Given the description of an element on the screen output the (x, y) to click on. 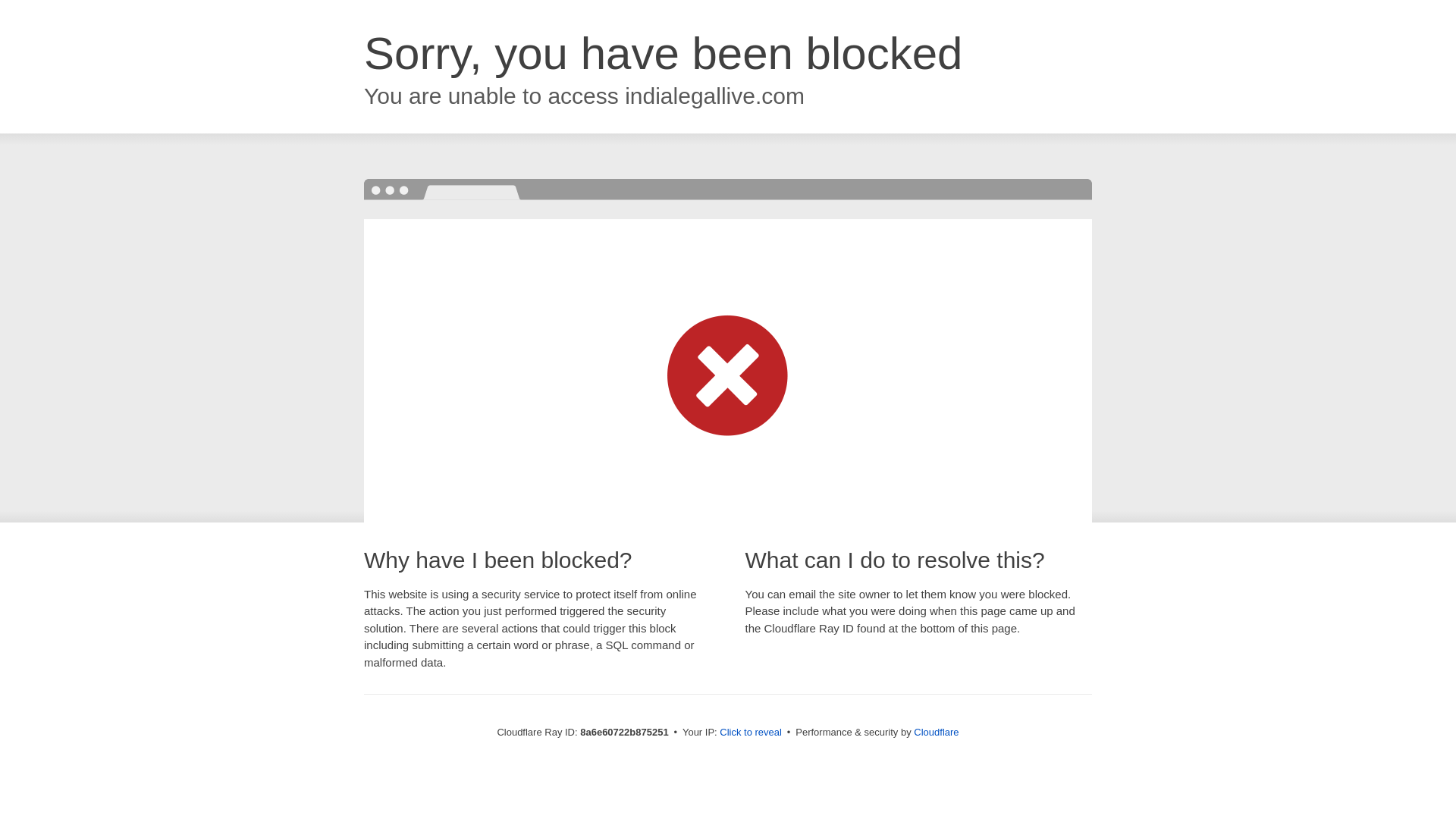
Click to reveal (750, 732)
Cloudflare (936, 731)
